Given the description of an element on the screen output the (x, y) to click on. 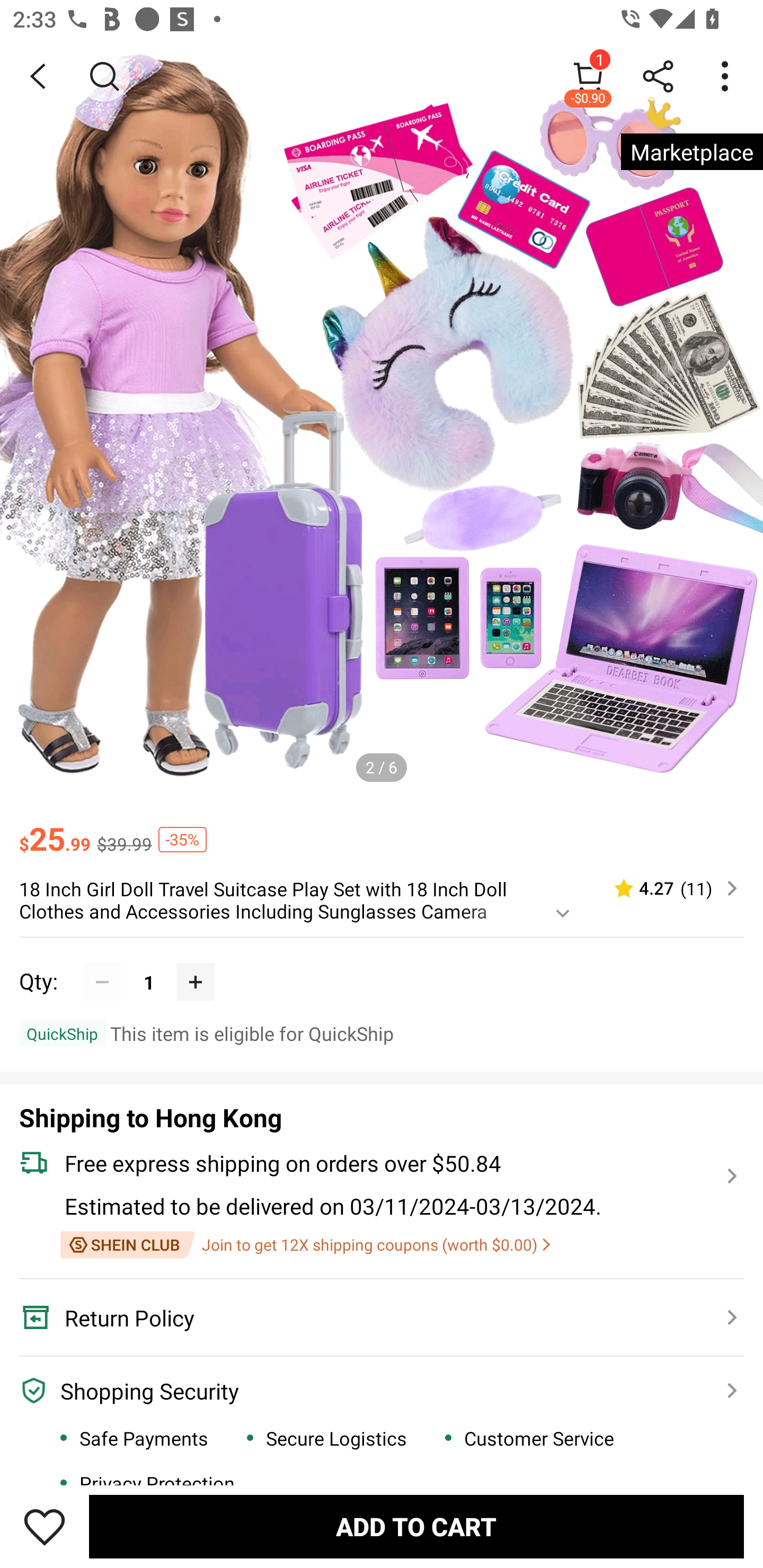
PHOTOS (381, 419)
BACK (38, 75)
1 -$0.90 (588, 75)
2 / 6 (381, 766)
$25.99 $39.99 -35% (381, 830)
4.27 (11) (667, 887)
Qty: 1 (381, 962)
  QuickShip   This item is eligible for QuickShip (381, 1032)
Join to get 12X shipping coupons (worth $0.00) (305, 1244)
Return Policy (370, 1317)
ADD TO CART (416, 1526)
Save (44, 1526)
